Given the description of an element on the screen output the (x, y) to click on. 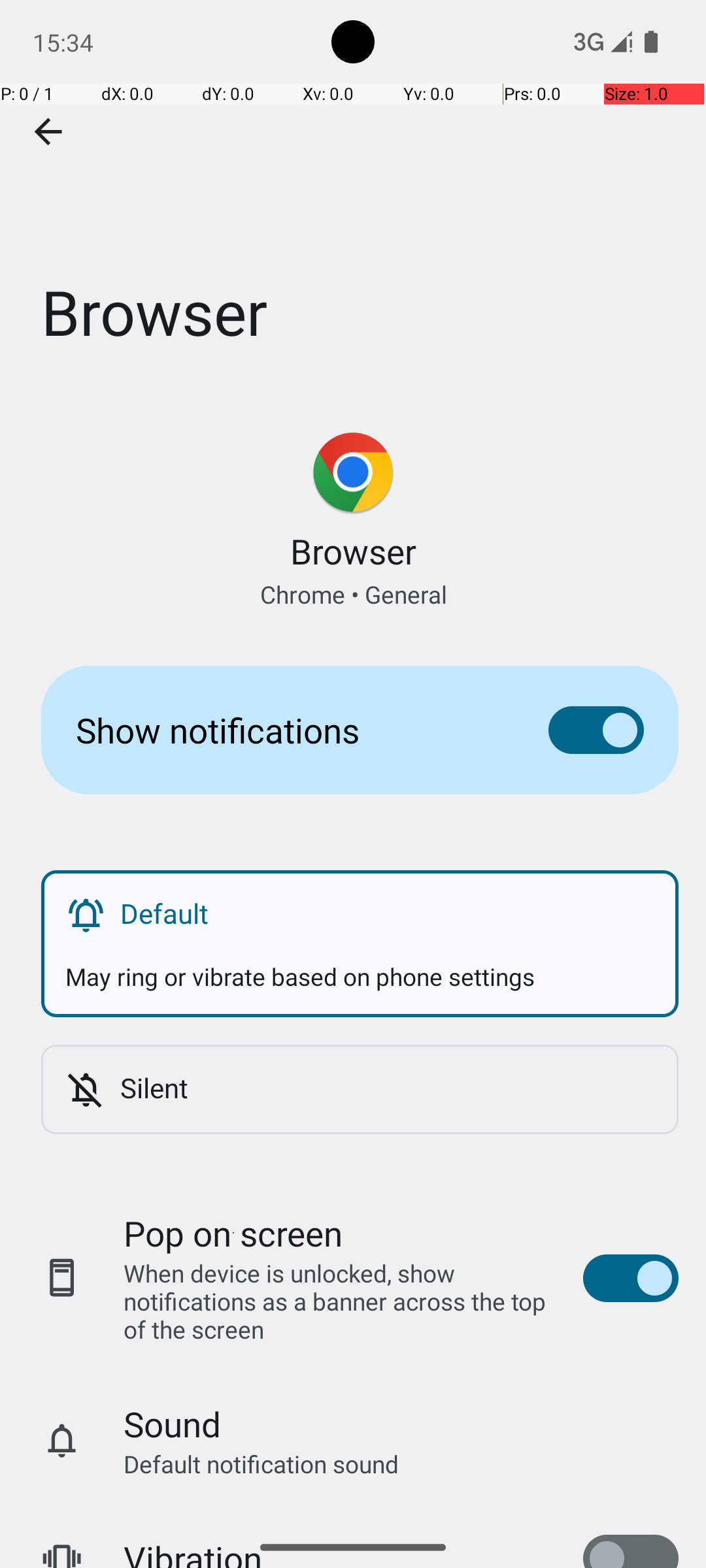
Browser Element type: android.widget.FrameLayout (353, 195)
Chrome • General Element type: android.widget.TextView (352, 593)
Show notifications Element type: android.widget.TextView (291, 729)
Pop on screen Element type: android.widget.TextView (233, 1232)
When device is unlocked, show notifications as a banner across the top of the screen Element type: android.widget.TextView (339, 1300)
Sound Element type: android.widget.TextView (171, 1423)
Default notification sound Element type: android.widget.TextView (260, 1463)
Default Element type: android.widget.TextView (387, 912)
May ring or vibrate based on phone settings Element type: android.widget.TextView (359, 964)
Silent Element type: android.widget.TextView (387, 1087)
